Given the description of an element on the screen output the (x, y) to click on. 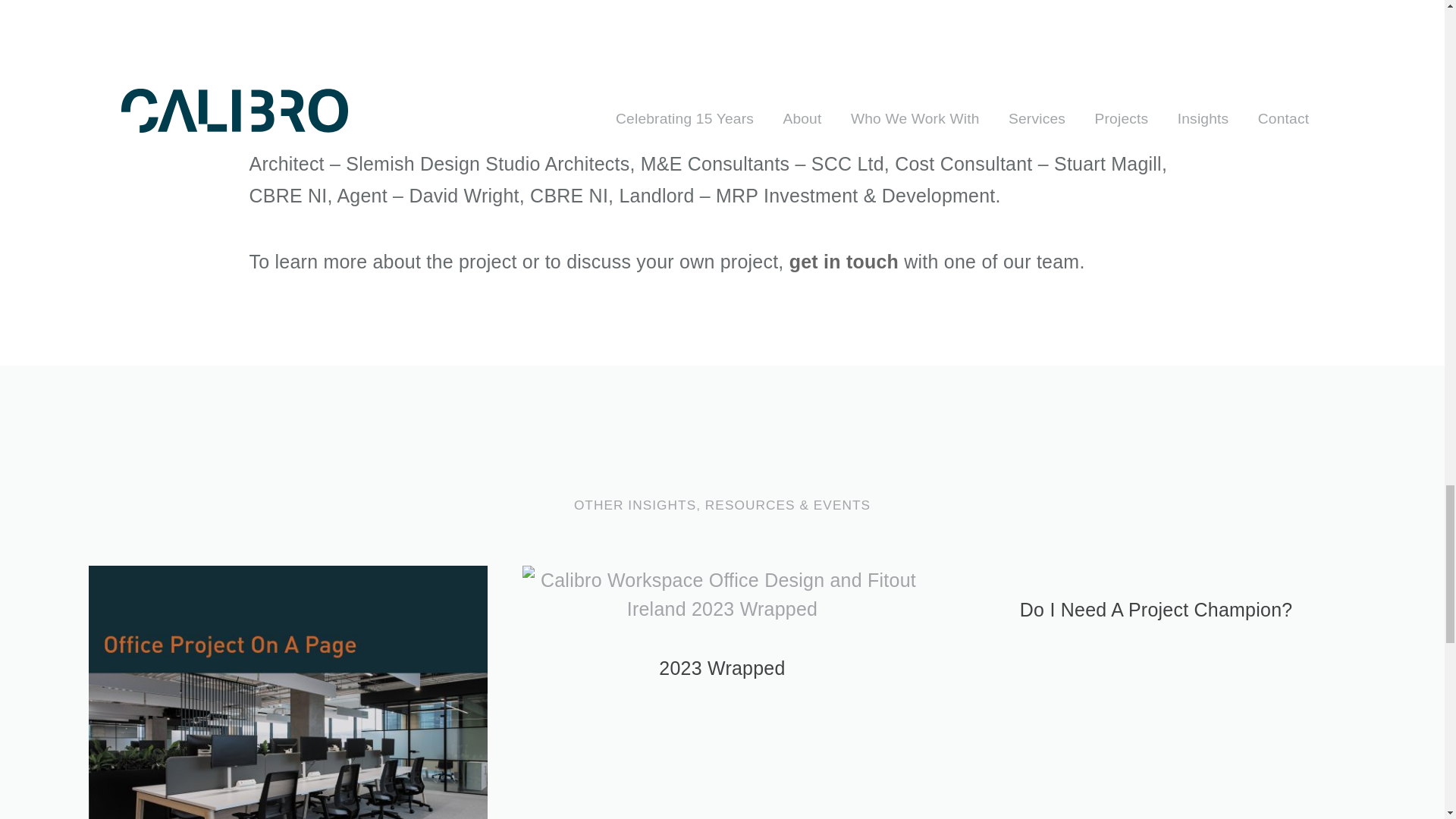
Do I Need A Project Champion? (1156, 610)
get in touch (843, 261)
2023 Wrapped (721, 668)
